Given the description of an element on the screen output the (x, y) to click on. 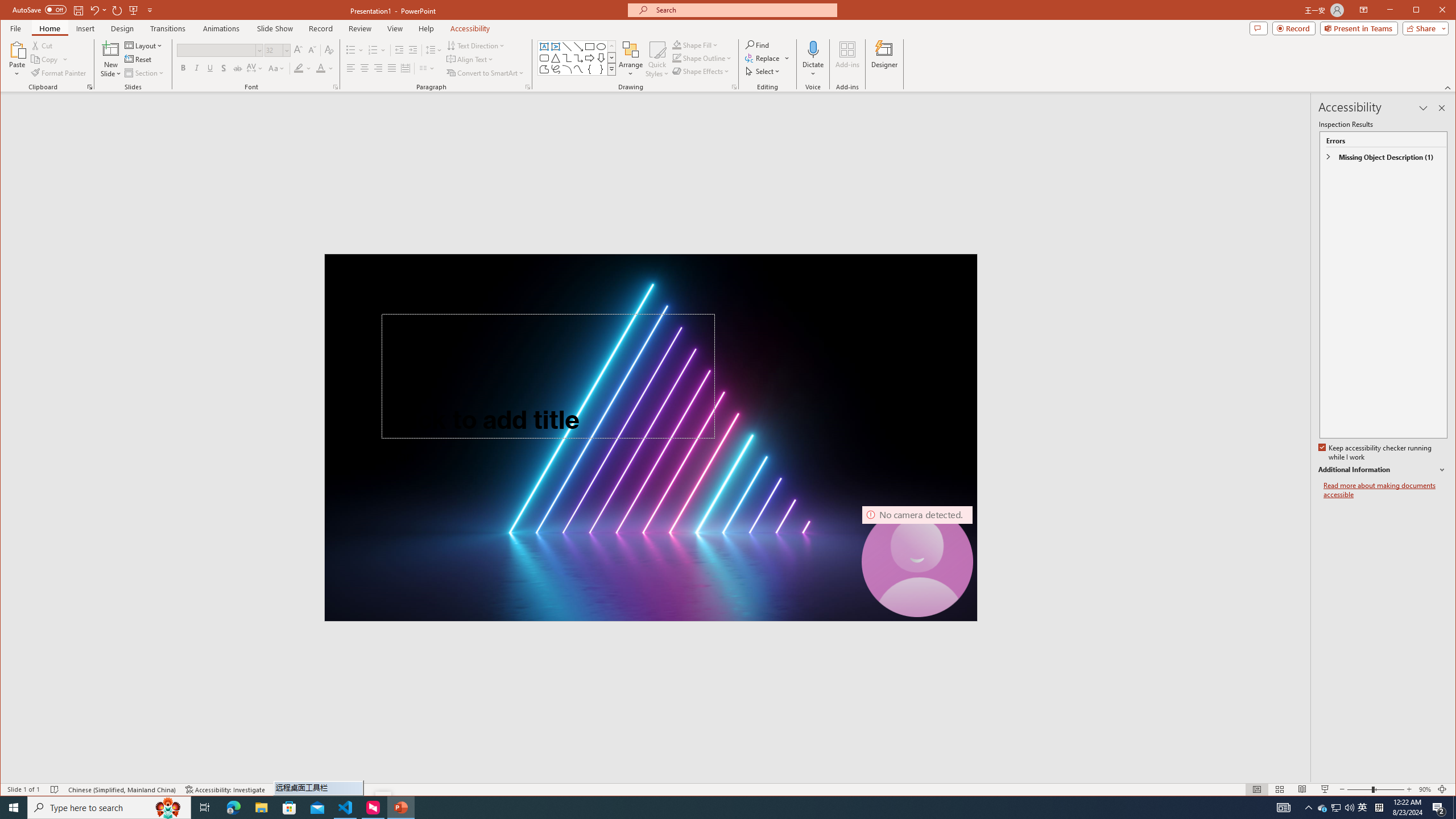
Additional Information (1382, 469)
Change Case (276, 68)
Distributed (405, 68)
Zoom 90% (1424, 789)
Shape Outline (702, 57)
Character Spacing (254, 68)
